Given the description of an element on the screen output the (x, y) to click on. 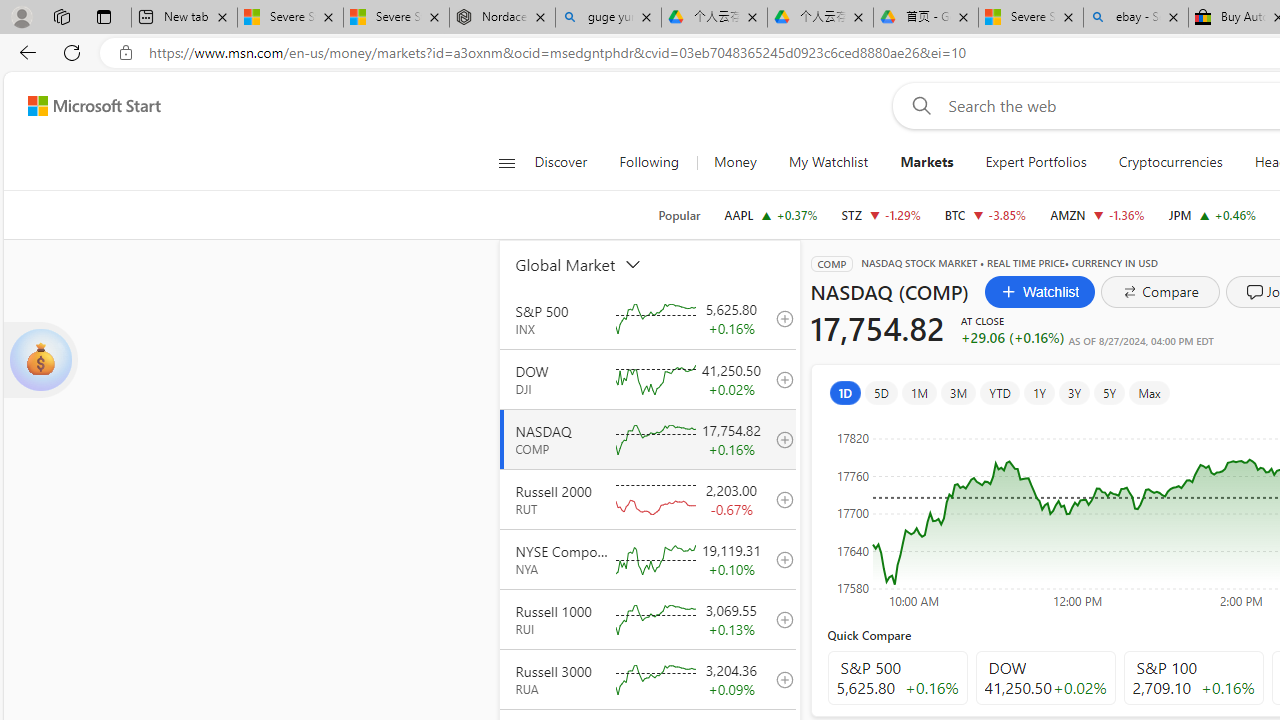
Web search (917, 105)
3Y (1074, 392)
Discover (568, 162)
Cryptocurrencies (1169, 162)
YTD (1000, 392)
add to your watchlist (779, 678)
Money (735, 162)
Max (1148, 392)
1M (919, 392)
Following (649, 162)
5Y (1110, 392)
Expert Portfolios (1035, 162)
